Given the description of an element on the screen output the (x, y) to click on. 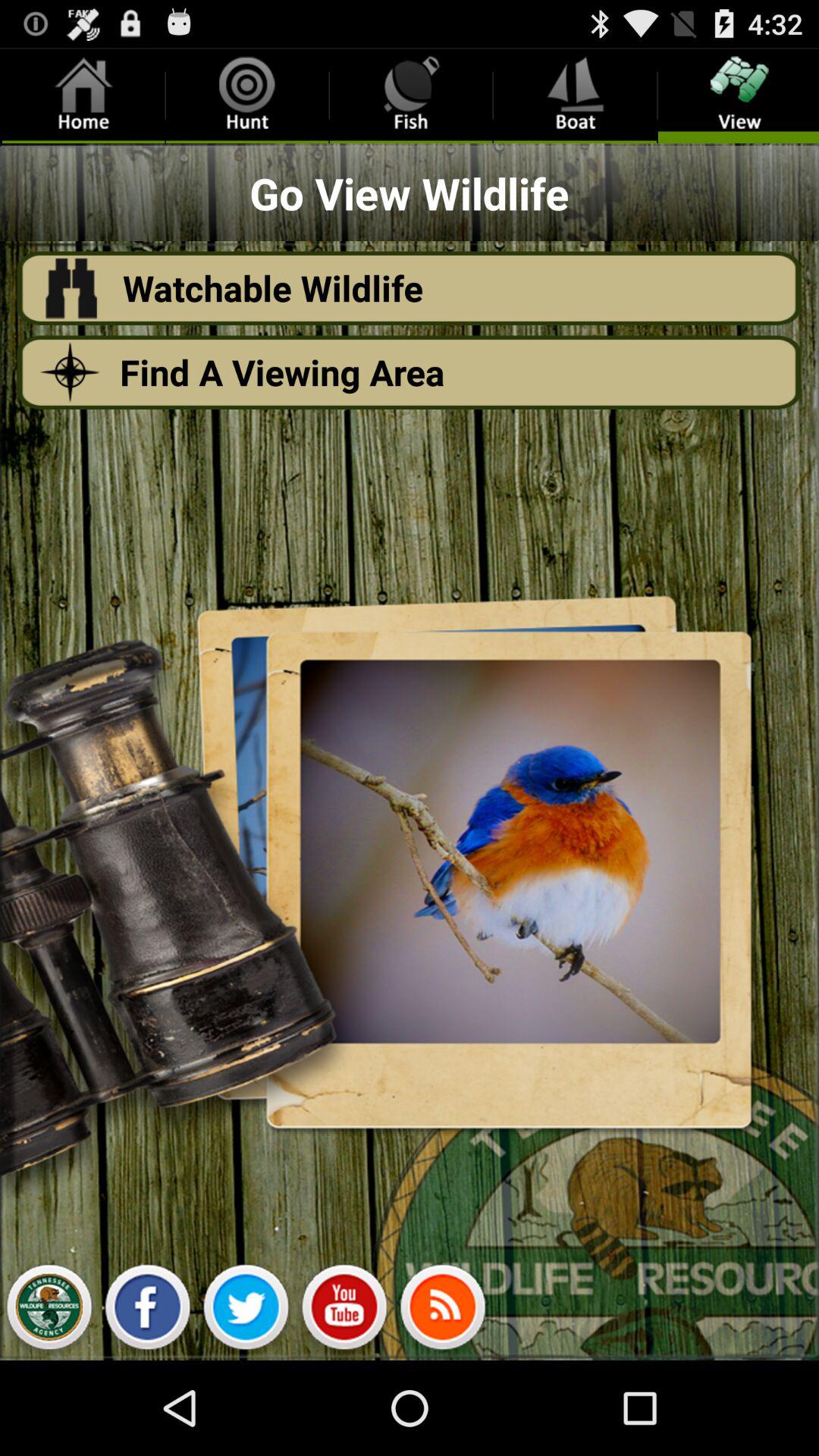
twitter (245, 1311)
